Given the description of an element on the screen output the (x, y) to click on. 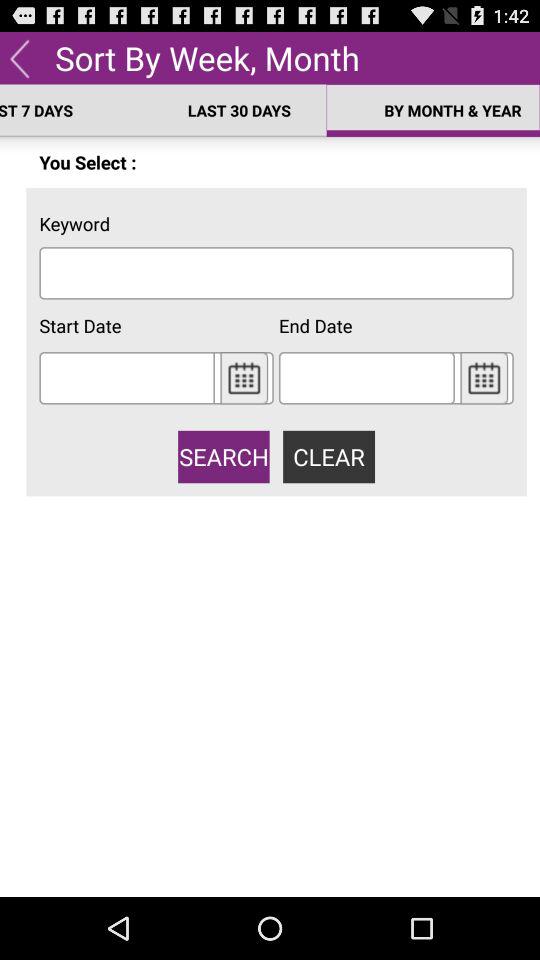
turn on button to the right of the search (328, 456)
